Given the description of an element on the screen output the (x, y) to click on. 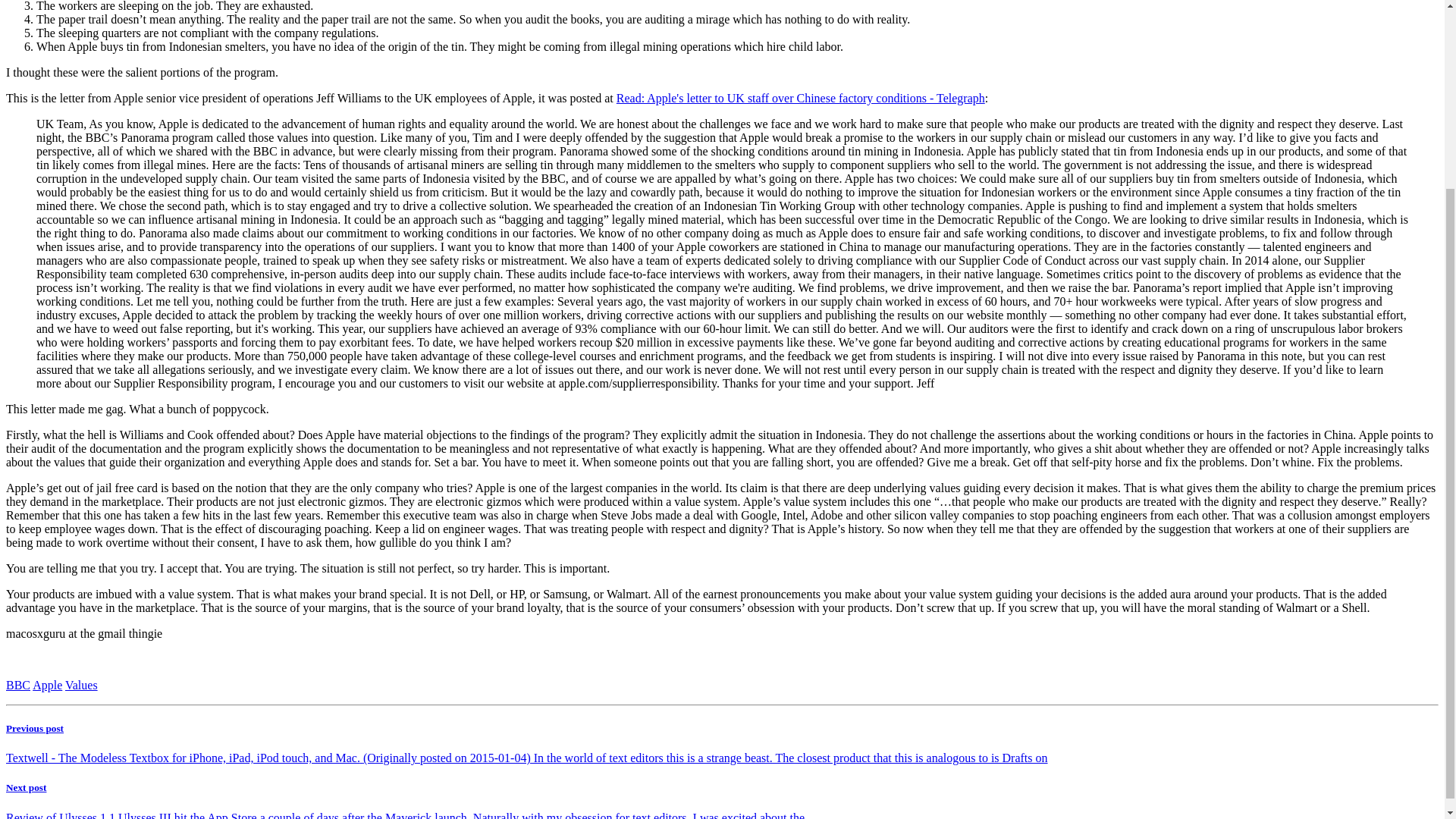
Apple (47, 684)
BBC (17, 684)
Values (81, 684)
